Given the description of an element on the screen output the (x, y) to click on. 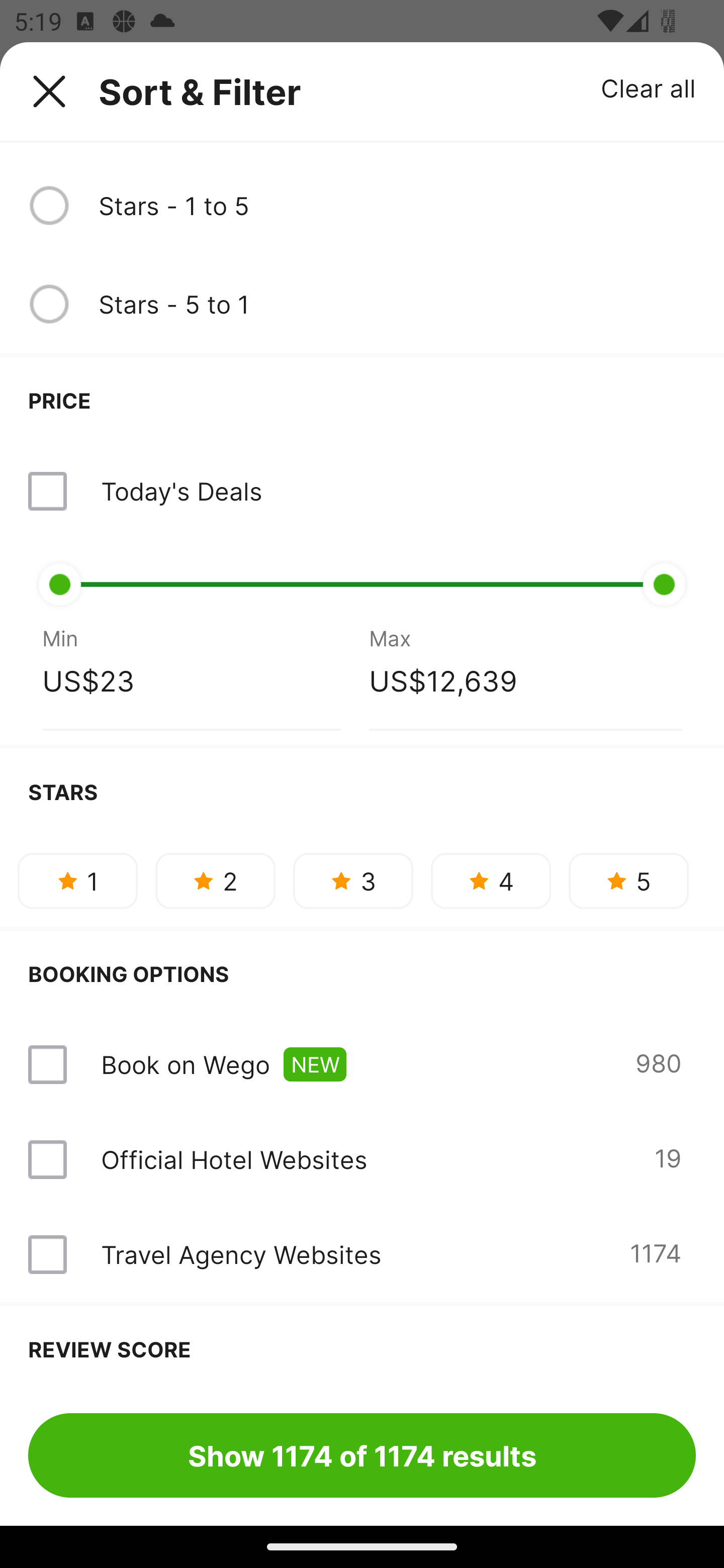
Clear all (648, 87)
Stars - 1 to 5 (396, 205)
Stars - 5 to 1 (396, 303)
Today's Deals (362, 491)
Today's Deals (181, 490)
1 (77, 880)
2 (214, 880)
3 (352, 880)
4 (491, 880)
5 (627, 880)
Book on Wego NEW 980 (362, 1064)
Book on Wego (184, 1064)
Official Hotel Websites 19 (362, 1159)
Official Hotel Websites (233, 1159)
Travel Agency Websites 1174 (362, 1254)
Travel Agency Websites (240, 1254)
Show 1174 of 1174 results (361, 1454)
